Given the description of an element on the screen output the (x, y) to click on. 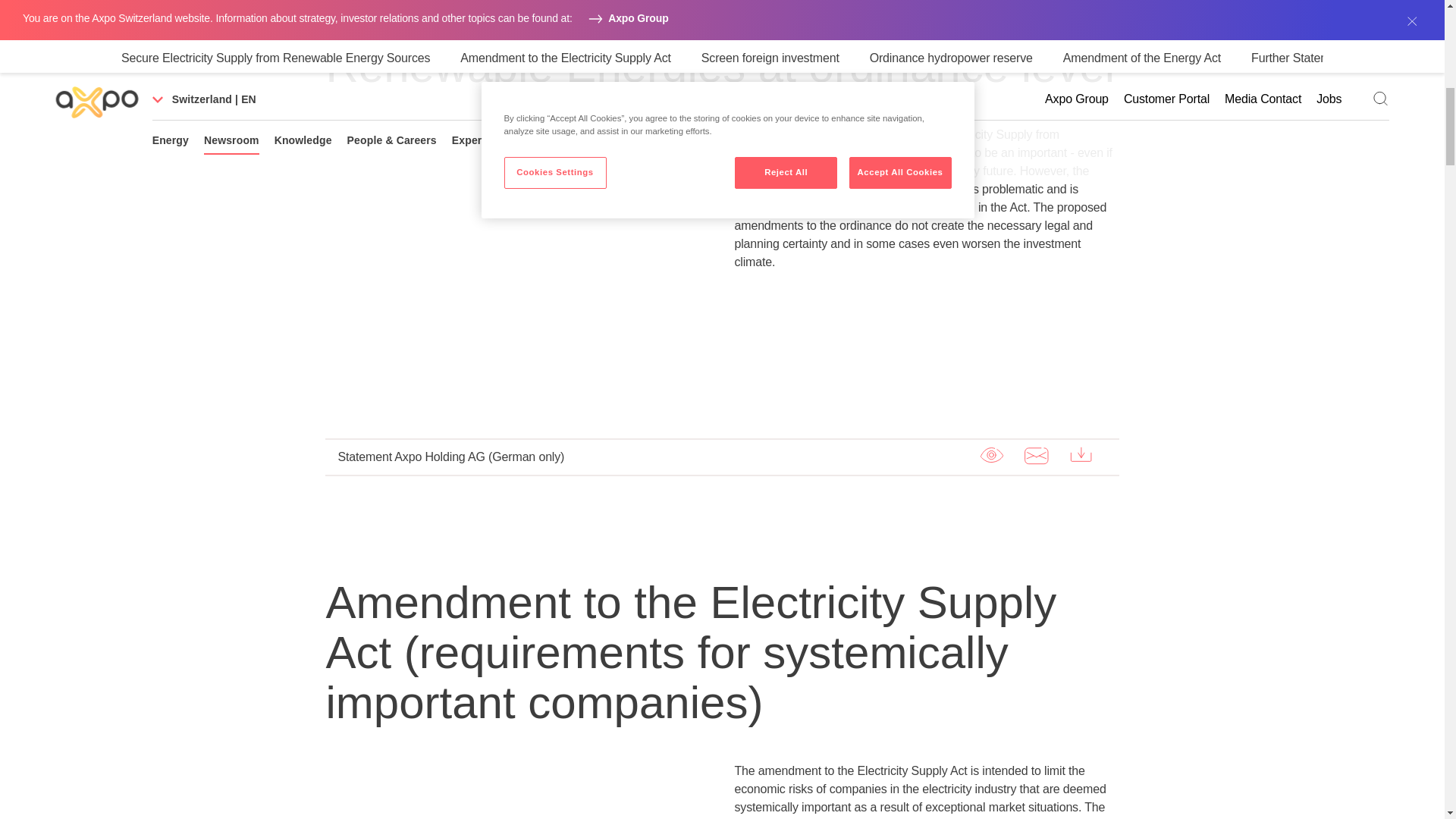
Send email (1036, 454)
